Given the description of an element on the screen output the (x, y) to click on. 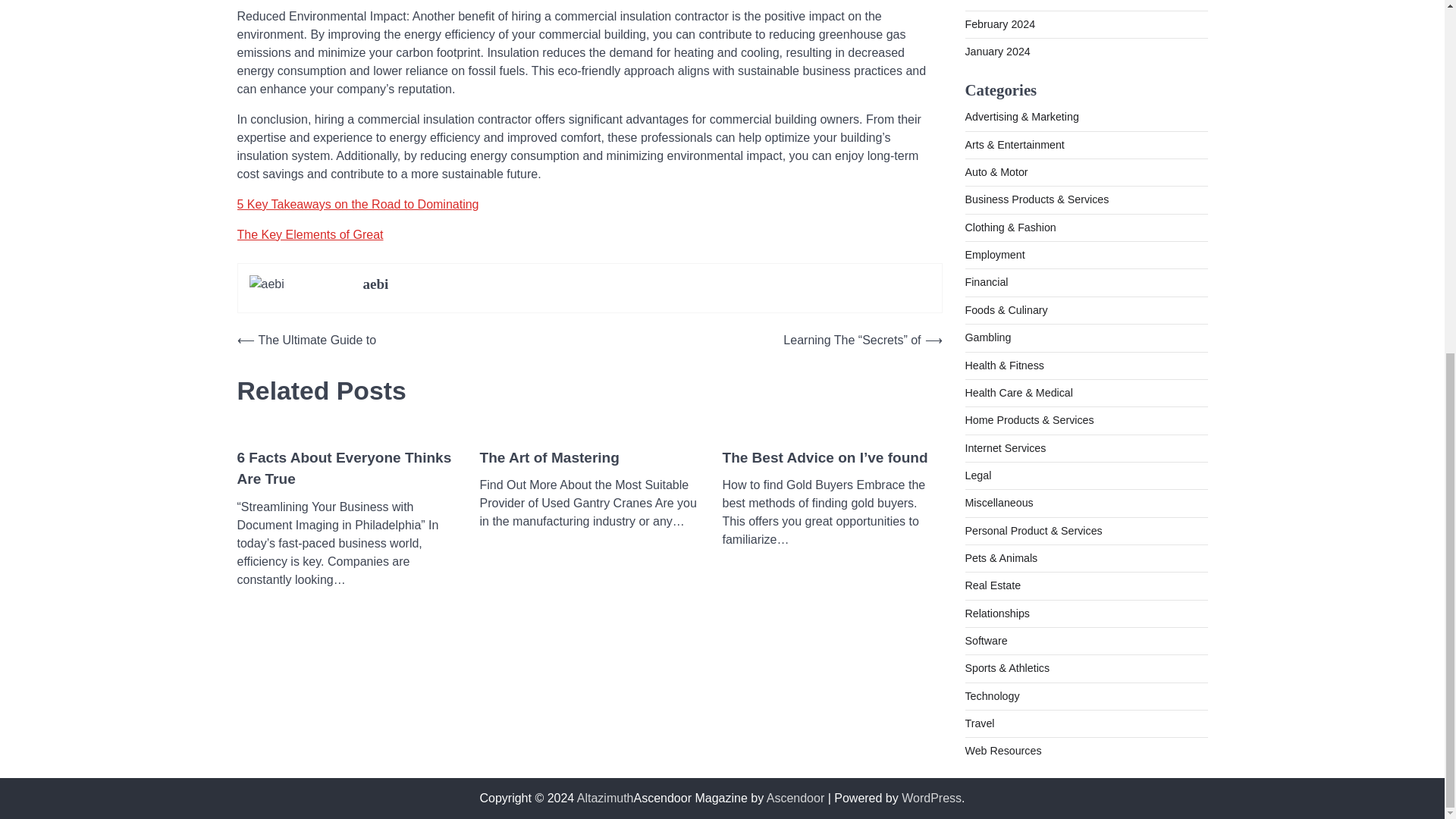
February 2024 (999, 24)
The Art of Mastering (548, 458)
January 2024 (996, 51)
Employment (994, 254)
March 2024 (992, 1)
Gambling (986, 337)
Financial (985, 282)
5 Key Takeaways on the Road to Dominating (357, 204)
6 Facts About Everyone Thinks Are True (346, 468)
The Key Elements of Great (308, 234)
